Given the description of an element on the screen output the (x, y) to click on. 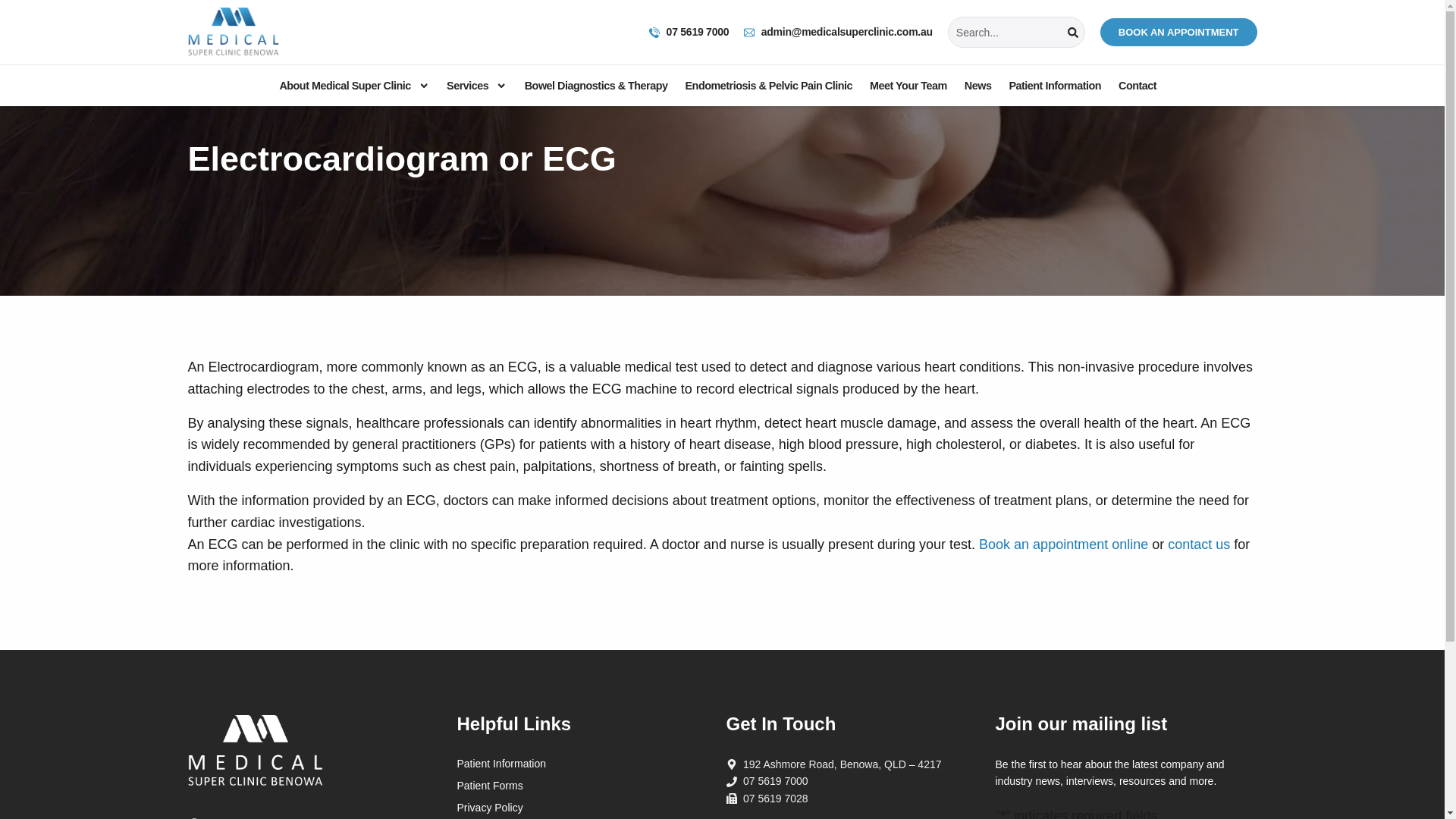
Services (476, 85)
07 5619 7000 (689, 31)
About Medical Super Clinic (354, 85)
BOOK AN APPOINTMENT (1178, 31)
